Given the description of an element on the screen output the (x, y) to click on. 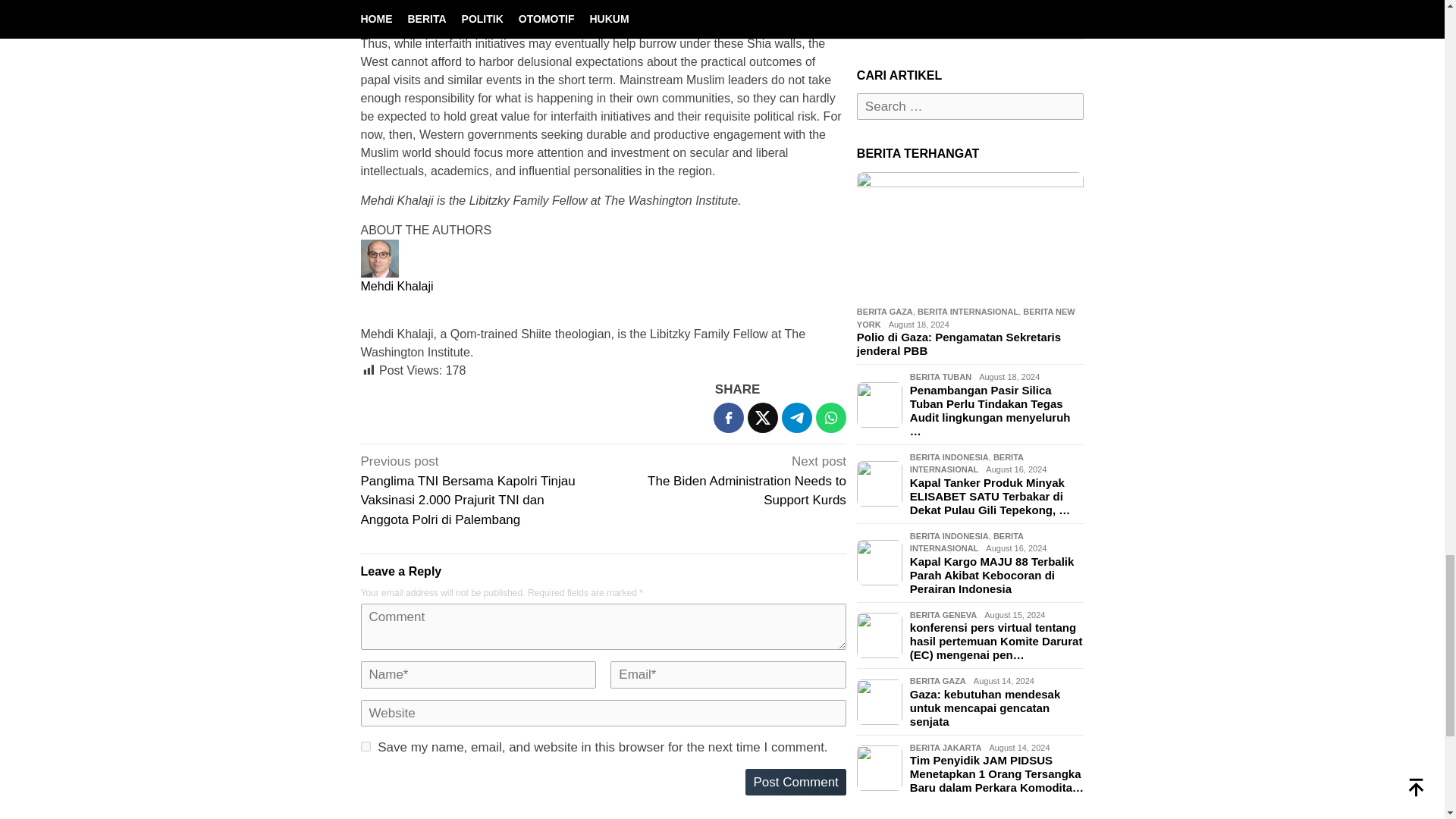
Post Comment (795, 782)
Share this (728, 417)
Telegram Share (796, 417)
Post Comment (795, 782)
Tweet this (762, 417)
Mehdi Khalaji (397, 286)
yes (366, 746)
